Given the description of an element on the screen output the (x, y) to click on. 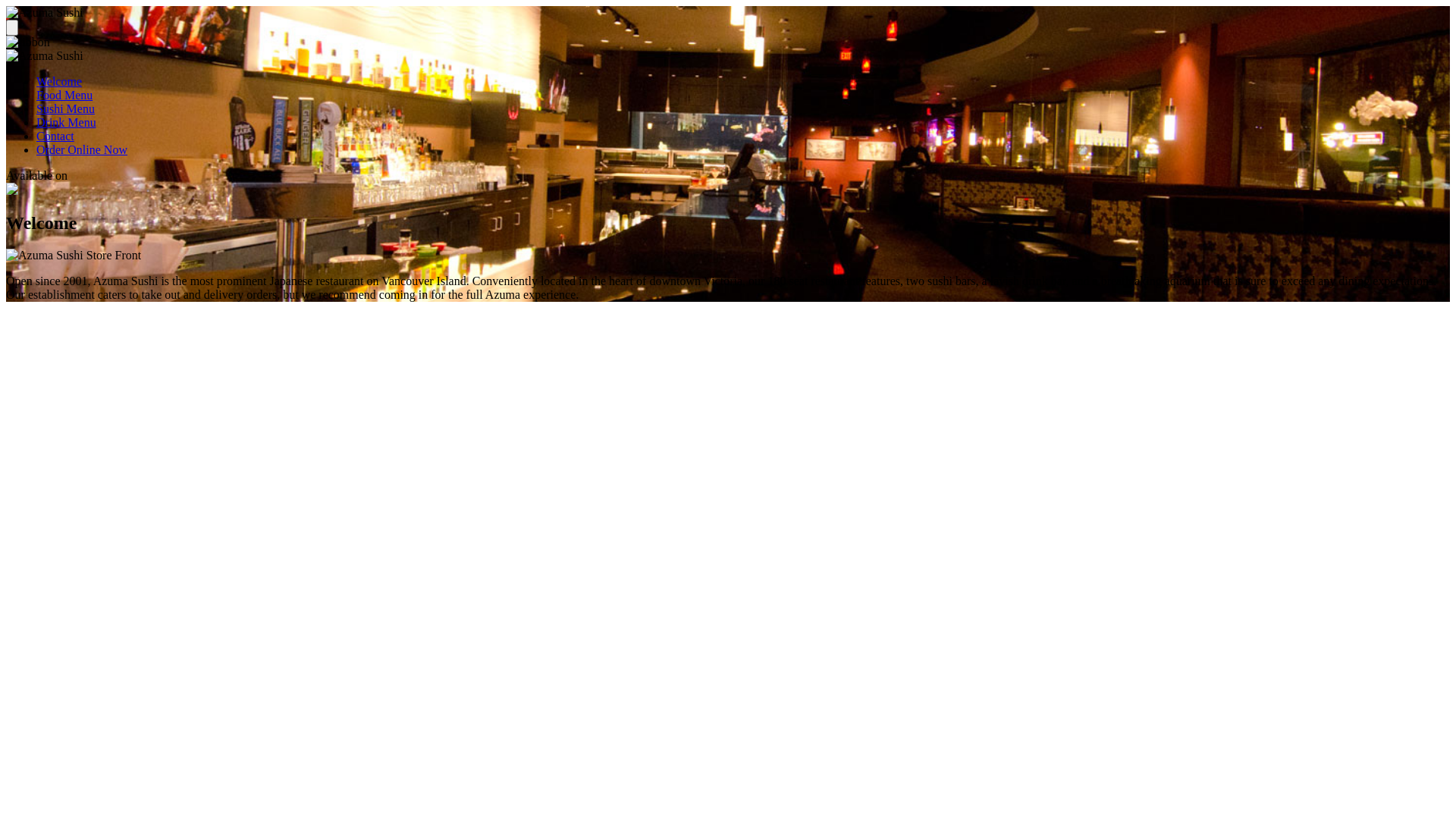
Drink Menu Element type: text (66, 122)
Sushi Menu Element type: text (65, 108)
Contact Element type: text (55, 135)
Welcome Element type: text (58, 81)
Order Online Now Element type: text (81, 149)
Food Menu Element type: text (64, 94)
